Given the description of an element on the screen output the (x, y) to click on. 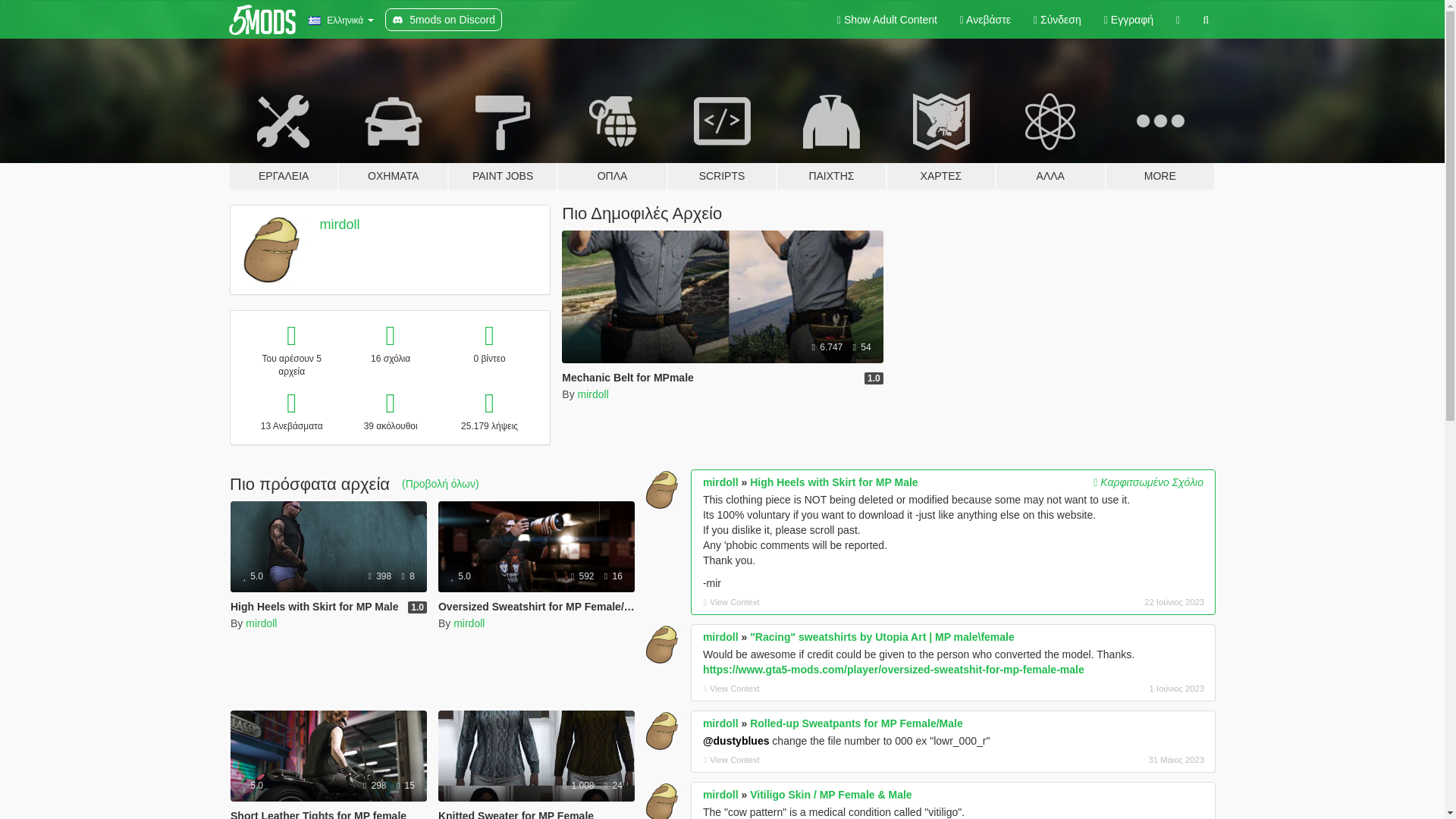
High Heels with Skirt for MP Male (313, 606)
Light mode (887, 19)
High Heels with Skirt for MP Male (328, 546)
mirdoll (593, 394)
Mechanic Belt for MPmale (628, 377)
5.0 star rating (459, 575)
Mechanic Belt for MPmale (722, 337)
1.0 (873, 378)
mirdoll (261, 623)
5mods on Discord (443, 19)
